Given the description of an element on the screen output the (x, y) to click on. 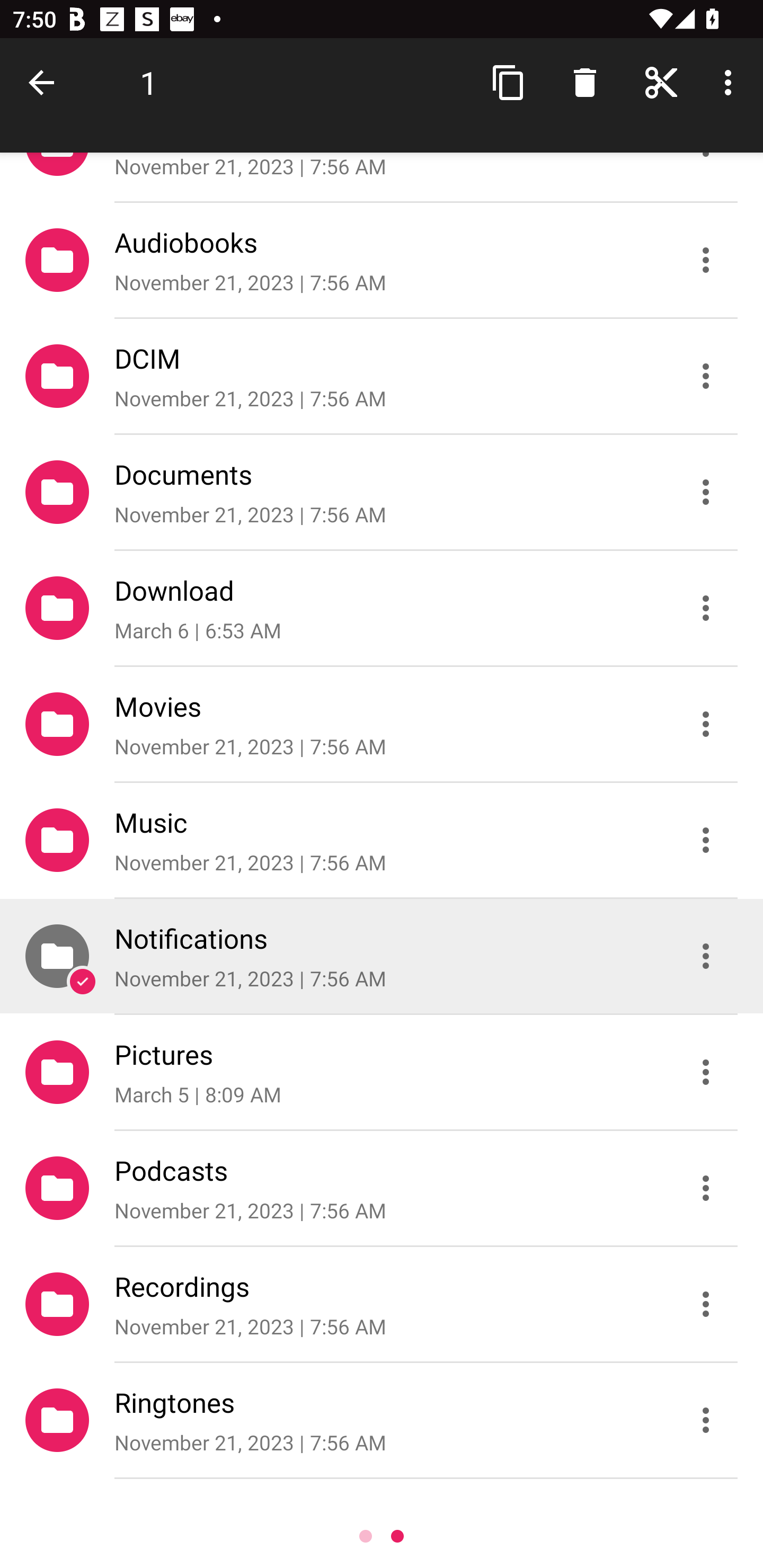
1 (148, 82)
Done (44, 81)
Copy (508, 81)
Delete (585, 81)
Cut (661, 81)
More options (731, 81)
Audiobooks November 21, 2023 | 7:56 AM (381, 259)
DCIM November 21, 2023 | 7:56 AM (381, 375)
Documents November 21, 2023 | 7:56 AM (381, 491)
Download March 6 | 6:53 AM (381, 607)
Movies November 21, 2023 | 7:56 AM (381, 723)
Music November 21, 2023 | 7:56 AM (381, 839)
Notifications November 21, 2023 | 7:56 AM (381, 955)
Pictures March 5 | 8:09 AM (381, 1071)
Podcasts November 21, 2023 | 7:56 AM (381, 1187)
Recordings November 21, 2023 | 7:56 AM (381, 1303)
Ringtones November 21, 2023 | 7:56 AM (381, 1419)
